Given the description of an element on the screen output the (x, y) to click on. 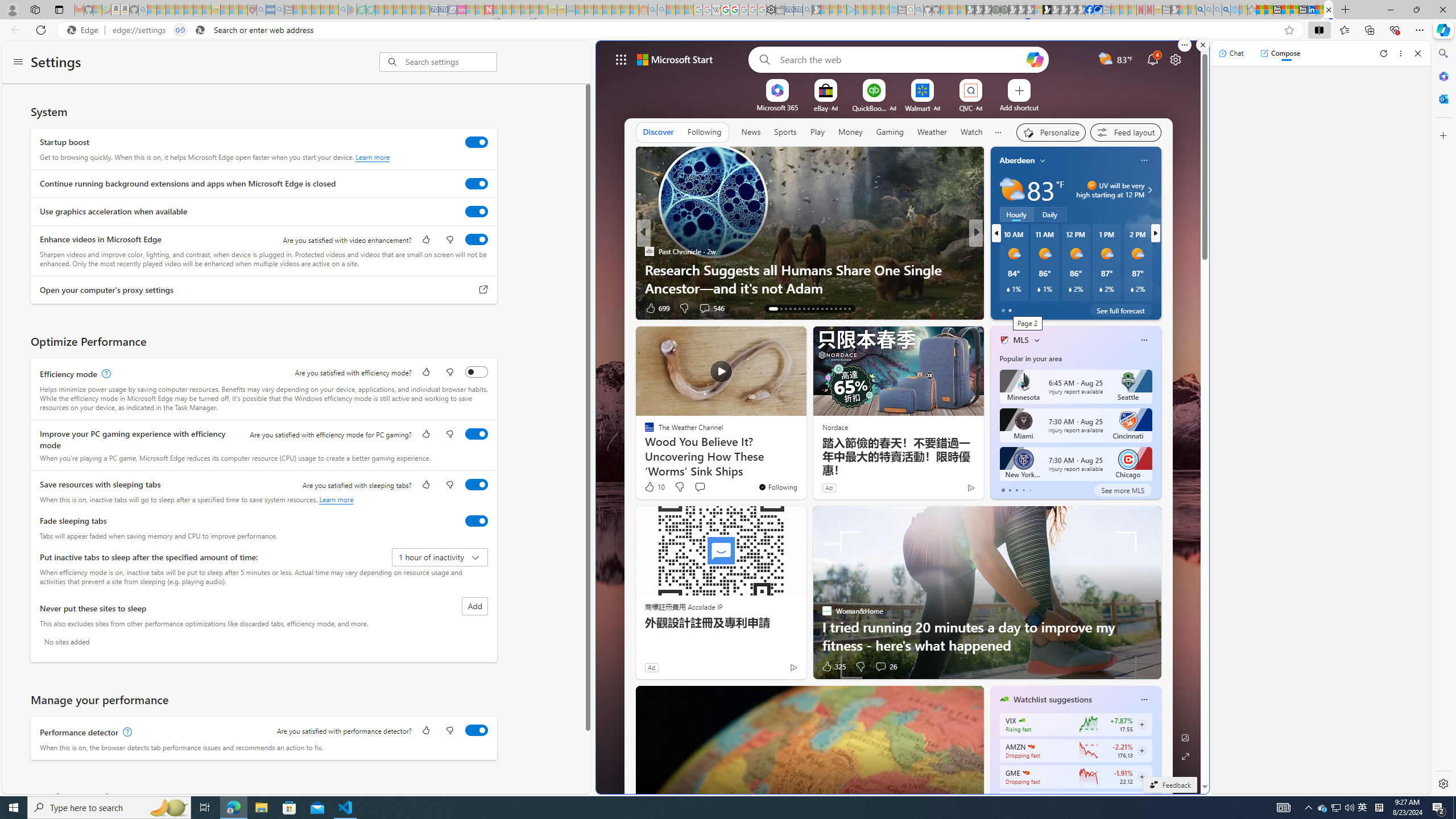
Sports (785, 132)
AutomationID: tab-15 (785, 308)
15 Times Snakes Messed With The Wrong Opponent (1159, 287)
Compose (1279, 52)
Nordace | Facebook (1089, 9)
AutomationID: tab-14 (777, 308)
View comments 18 Comment (1054, 307)
Search settings (451, 61)
View comments 26 Comment (885, 666)
